Given the description of an element on the screen output the (x, y) to click on. 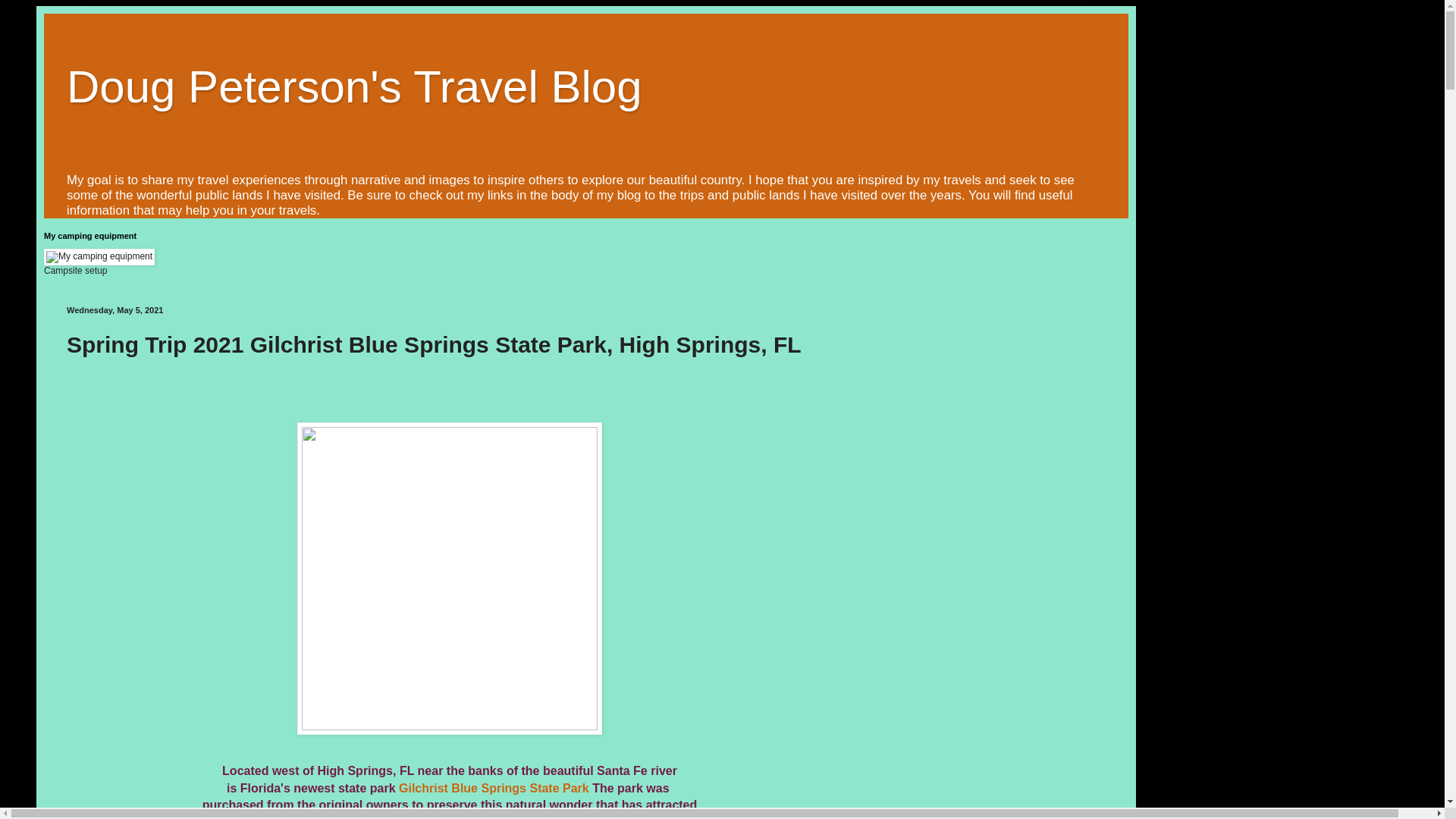
Doug Peterson's Travel Blog (354, 86)
Gilchrist Blue Springs State Park (493, 788)
